Given the description of an element on the screen output the (x, y) to click on. 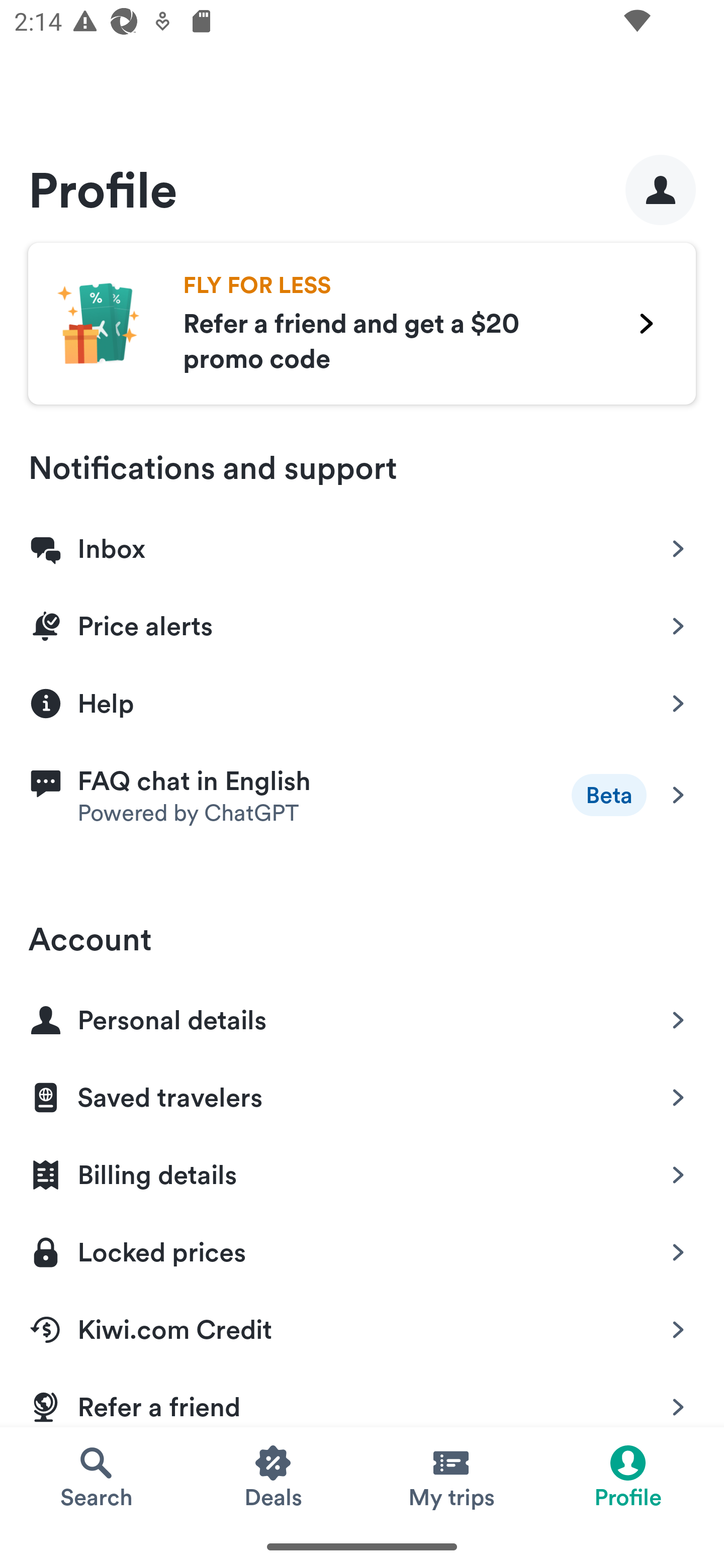
profile picture (660, 189)
Inbox (362, 544)
Price alerts (362, 622)
Help (362, 701)
Beta FAQ chat in English Powered by ChatGPT (362, 794)
Personal details (362, 1016)
Saved travelers (362, 1093)
Billing details (362, 1171)
Locked prices (362, 1248)
Kiwi.com Credit (362, 1326)
Refer a friend (362, 1395)
Search (95, 1475)
Deals (273, 1475)
My trips (450, 1475)
